Given the description of an element on the screen output the (x, y) to click on. 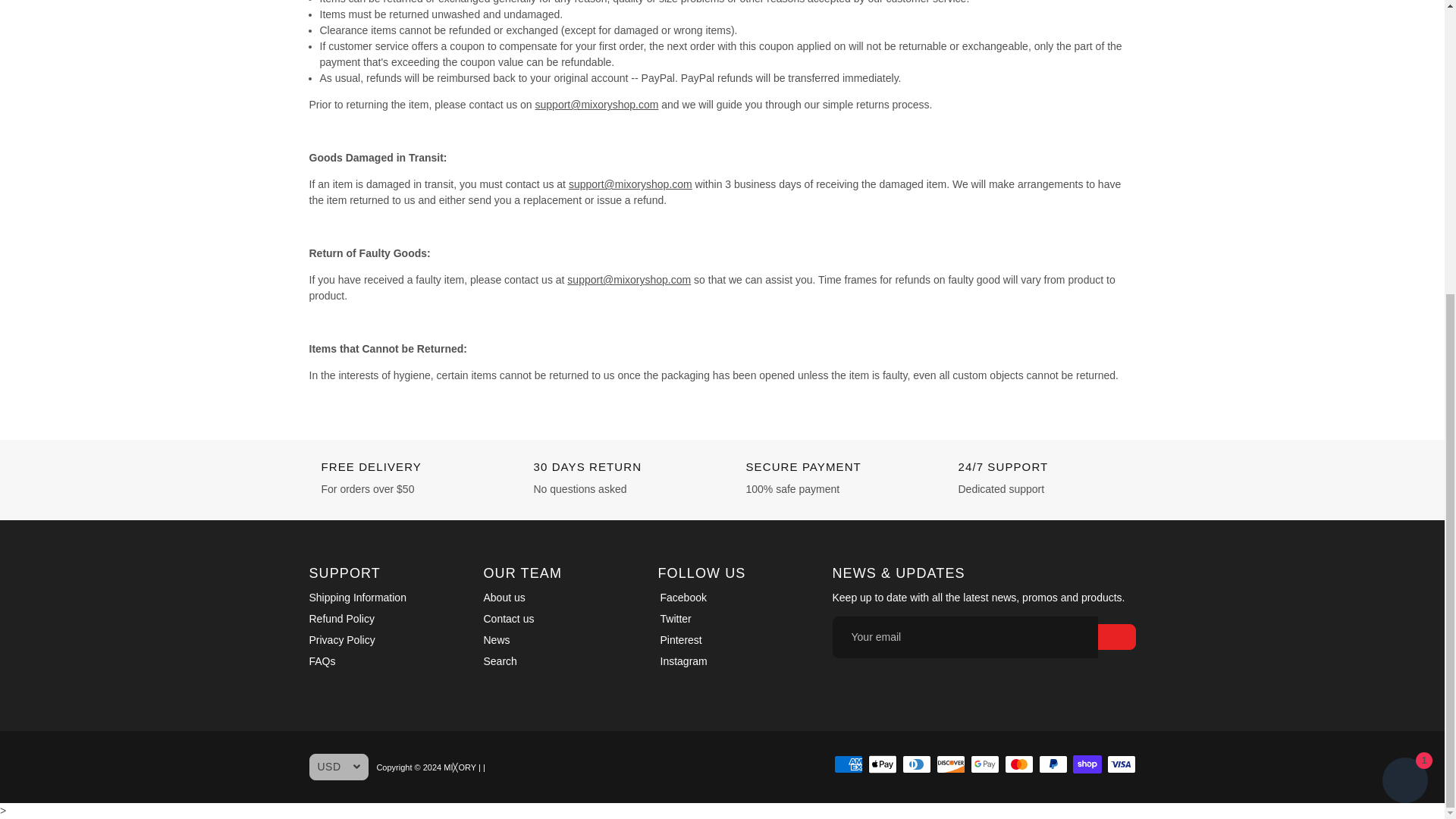
Discover (950, 764)
Mastercard (1018, 764)
Shopify online store chat (1404, 329)
Diners Club (916, 764)
Shop Pay (1087, 764)
Visa (1120, 764)
PayPal (1053, 764)
Google Pay (984, 764)
American Express (848, 764)
Apple Pay (881, 764)
